Given the description of an element on the screen output the (x, y) to click on. 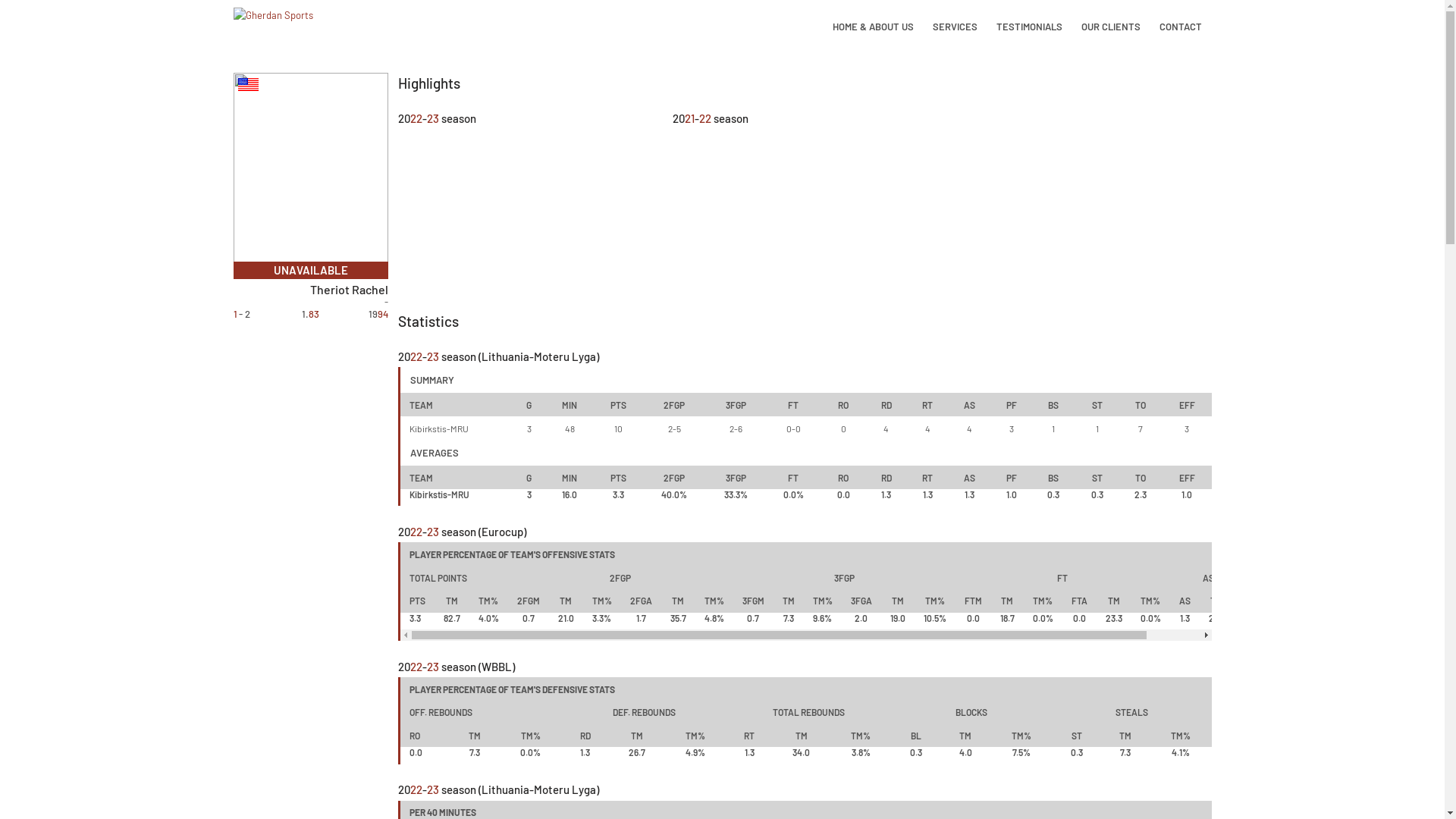
HOME & ABOUT US Element type: text (873, 26)
Rachel Theriot Highlights 2021/2022 Season Element type: hover (804, 202)
Rachel Theriot Highlights 2022/2023 Season Element type: hover (530, 202)
CONTACT Element type: text (1180, 26)
TESTIMONIALS Element type: text (1029, 26)
Skip to content Element type: text (15, 7)
OUR CLIENTS Element type: text (1111, 26)
SERVICES Element type: text (955, 26)
